Given the description of an element on the screen output the (x, y) to click on. 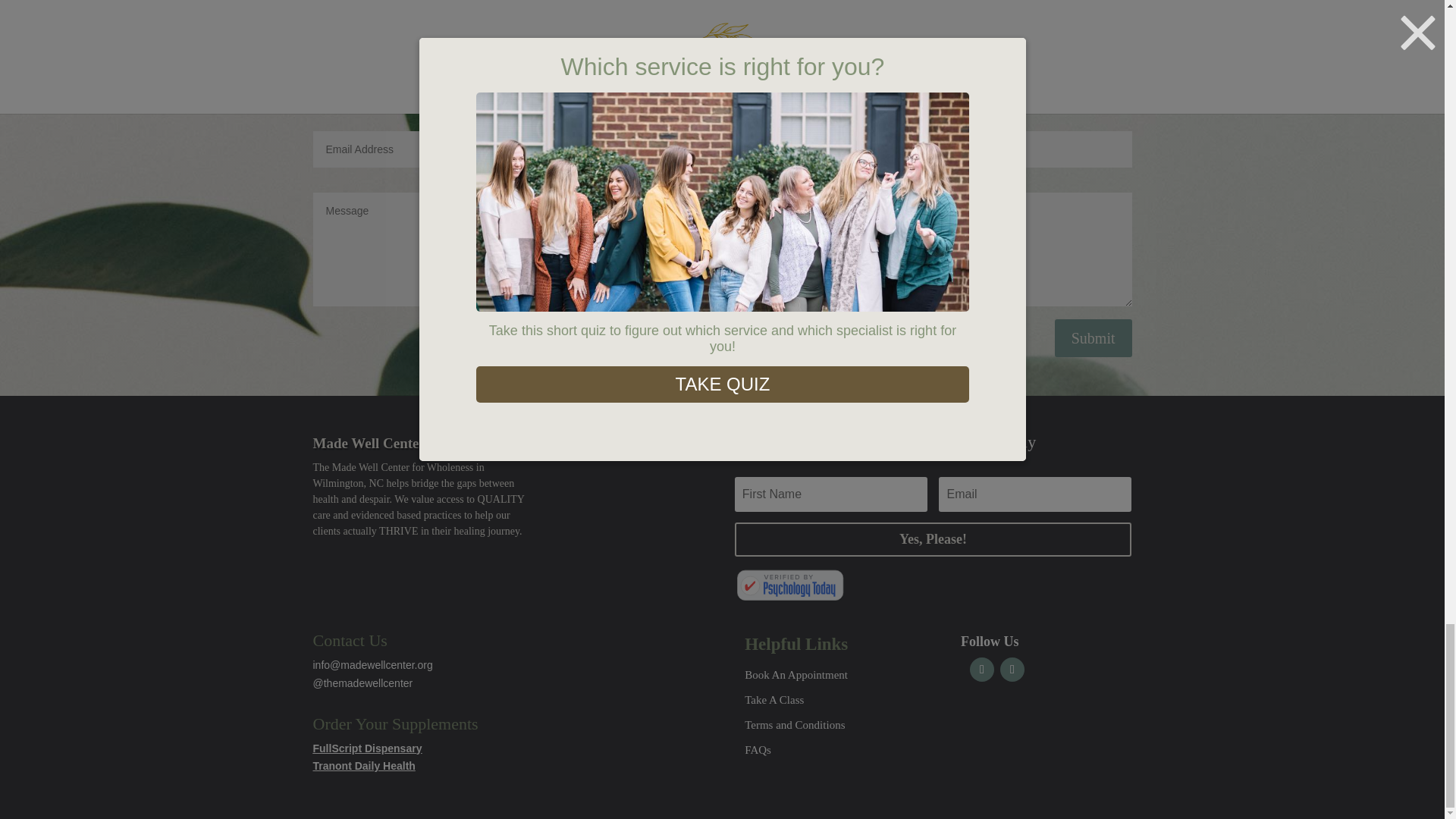
Follow on Instagram (1012, 669)
Made Well Center for Wholeness (790, 585)
Follow on Facebook (981, 669)
